Given the description of an element on the screen output the (x, y) to click on. 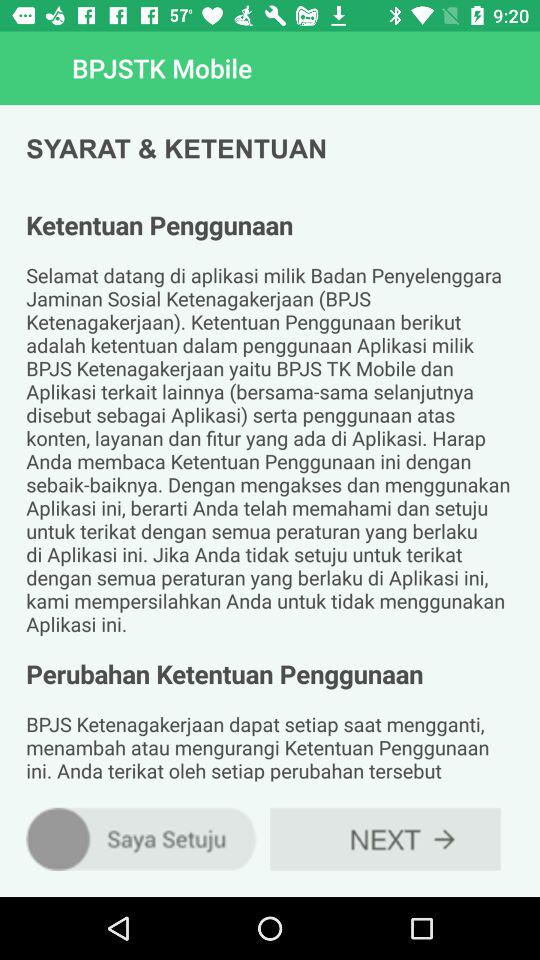
click the item below the ketentuan penggunaan selamat icon (385, 838)
